Given the description of an element on the screen output the (x, y) to click on. 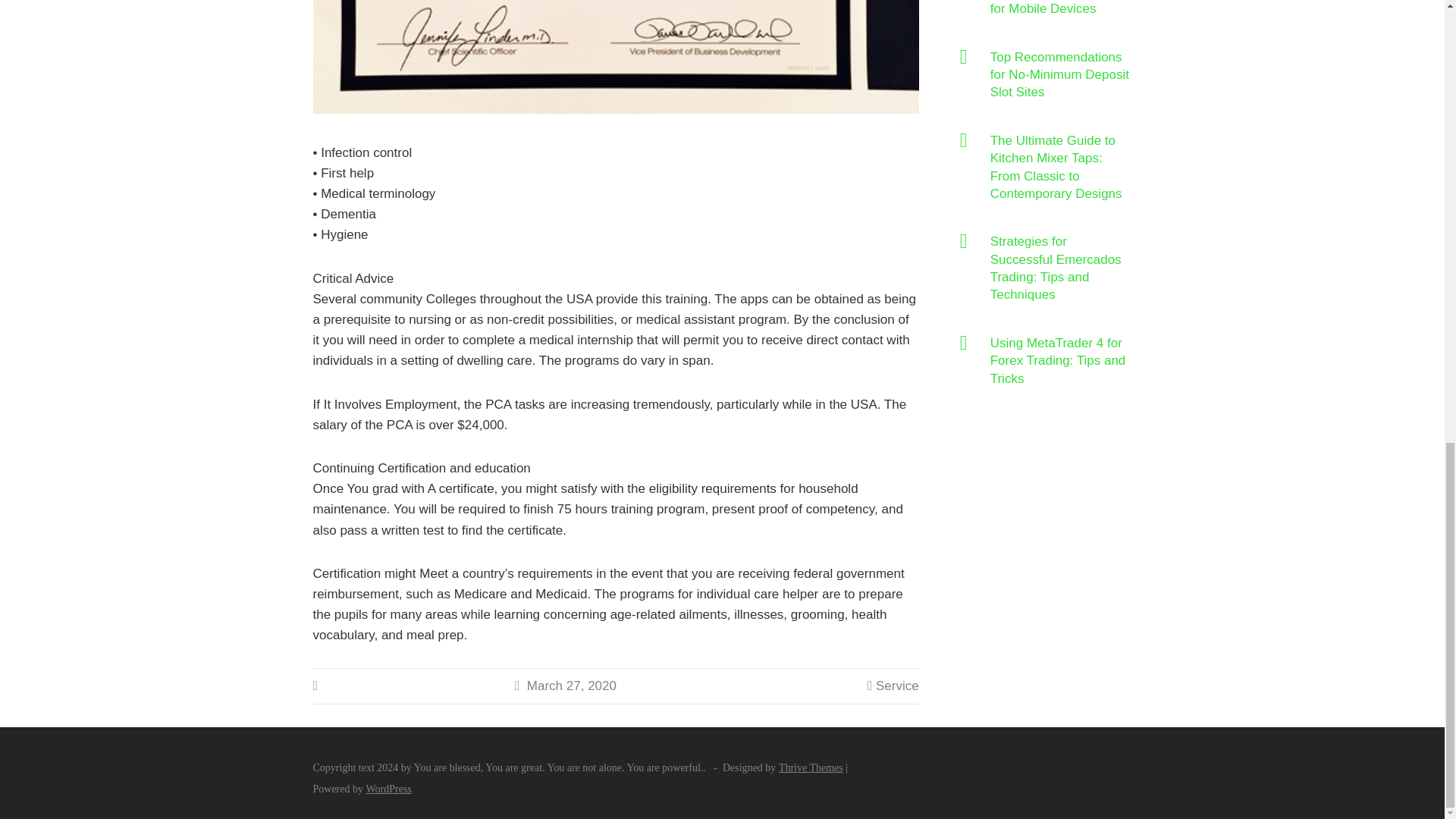
Slots Direct Website 100: Best Slot Games for Mobile Devices (1061, 8)
Using MetaTrader 4 for Forex Trading: Tips and Tricks (1061, 360)
Thrive Themes (810, 767)
Top Recommendations for No-Minimum Deposit Slot Sites (1061, 74)
WordPress (387, 788)
Service (897, 685)
